Given the description of an element on the screen output the (x, y) to click on. 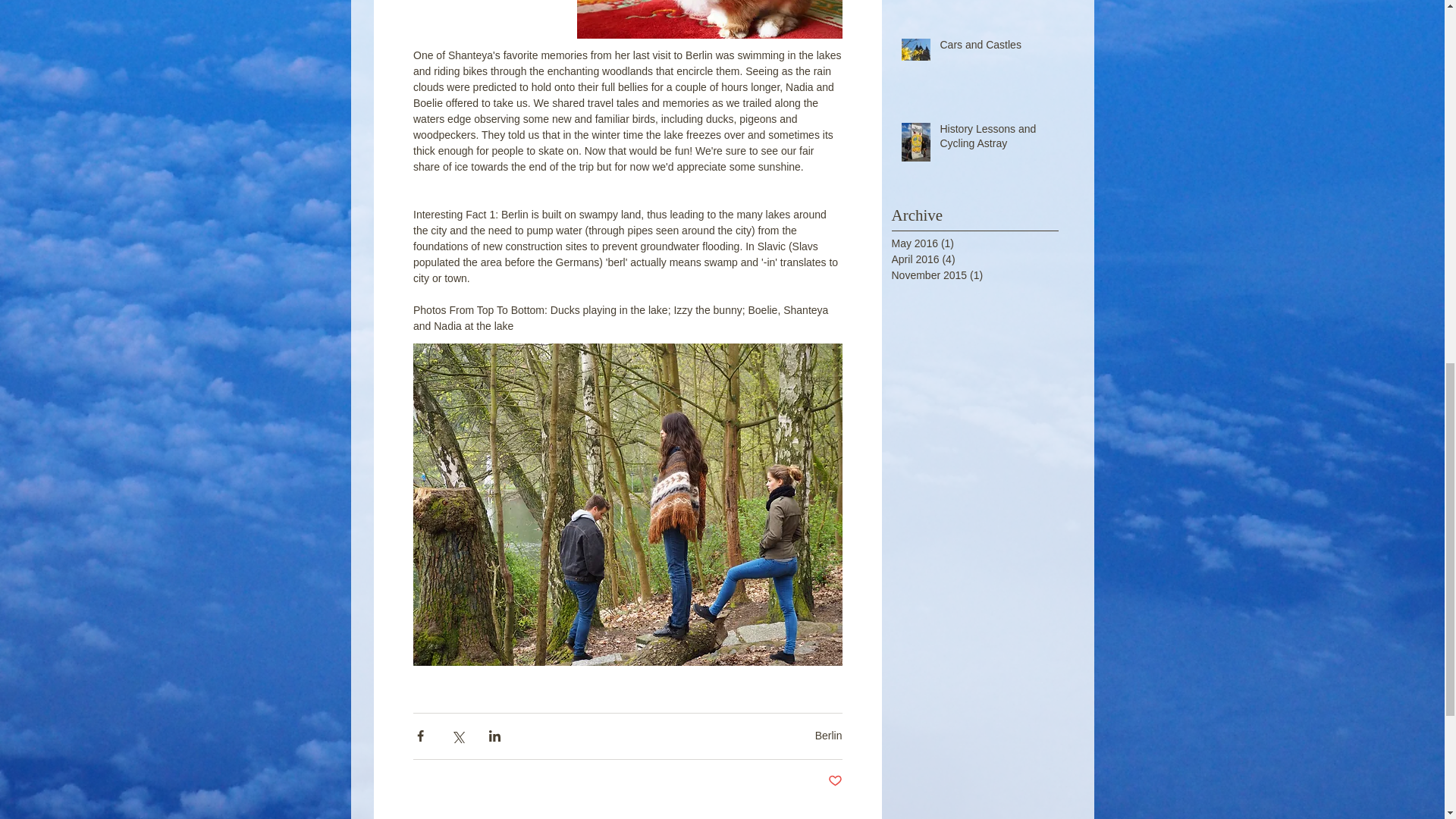
Cars and Castles (994, 47)
Berlin (829, 735)
Post not marked as liked (835, 781)
History Lessons and Cycling Astray (994, 140)
